Given the description of an element on the screen output the (x, y) to click on. 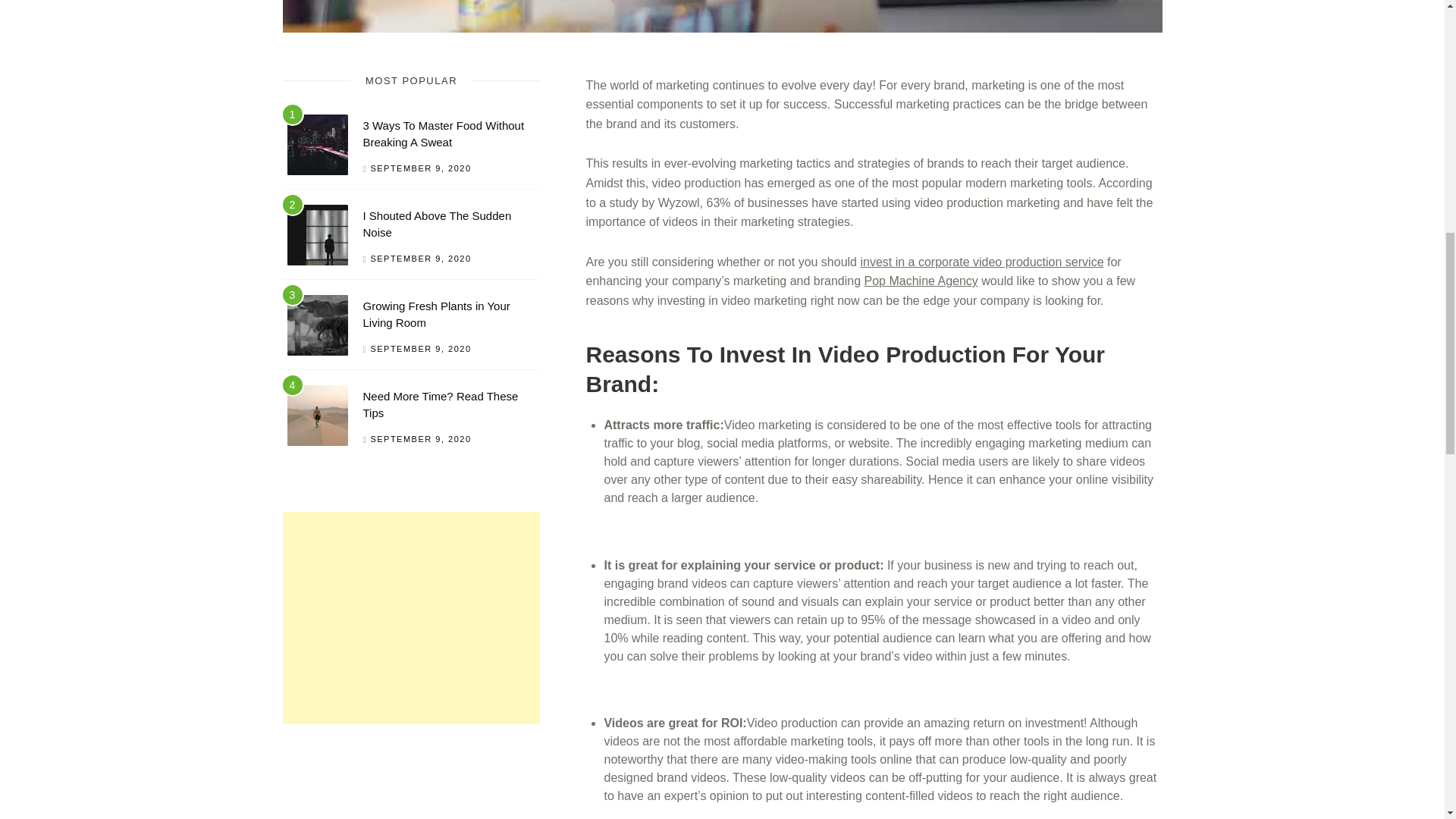
Permalink to 3 Ways To Master Food Without Breaking A Sweat (316, 147)
Advertisement (411, 617)
Permalink to Need More Time? Read These Tips (440, 404)
Permalink to I Shouted Above The Sudden Noise (436, 224)
I Shouted Above The Sudden Noise (436, 224)
Permalink to Need More Time? Read These Tips (316, 417)
3 Ways To Master Food Without Breaking A Sweat (443, 133)
Permalink to Growing Fresh Plants in Your Living Room (316, 327)
SEPTEMBER 9, 2020 (419, 347)
Pop Machine Agency (921, 280)
SEPTEMBER 9, 2020 (419, 438)
Need More Time? Read These Tips (440, 404)
Permalink to I Shouted Above The Sudden Noise (316, 237)
SEPTEMBER 9, 2020 (419, 257)
Growing Fresh Plants in Your Living Room (435, 314)
